Given the description of an element on the screen output the (x, y) to click on. 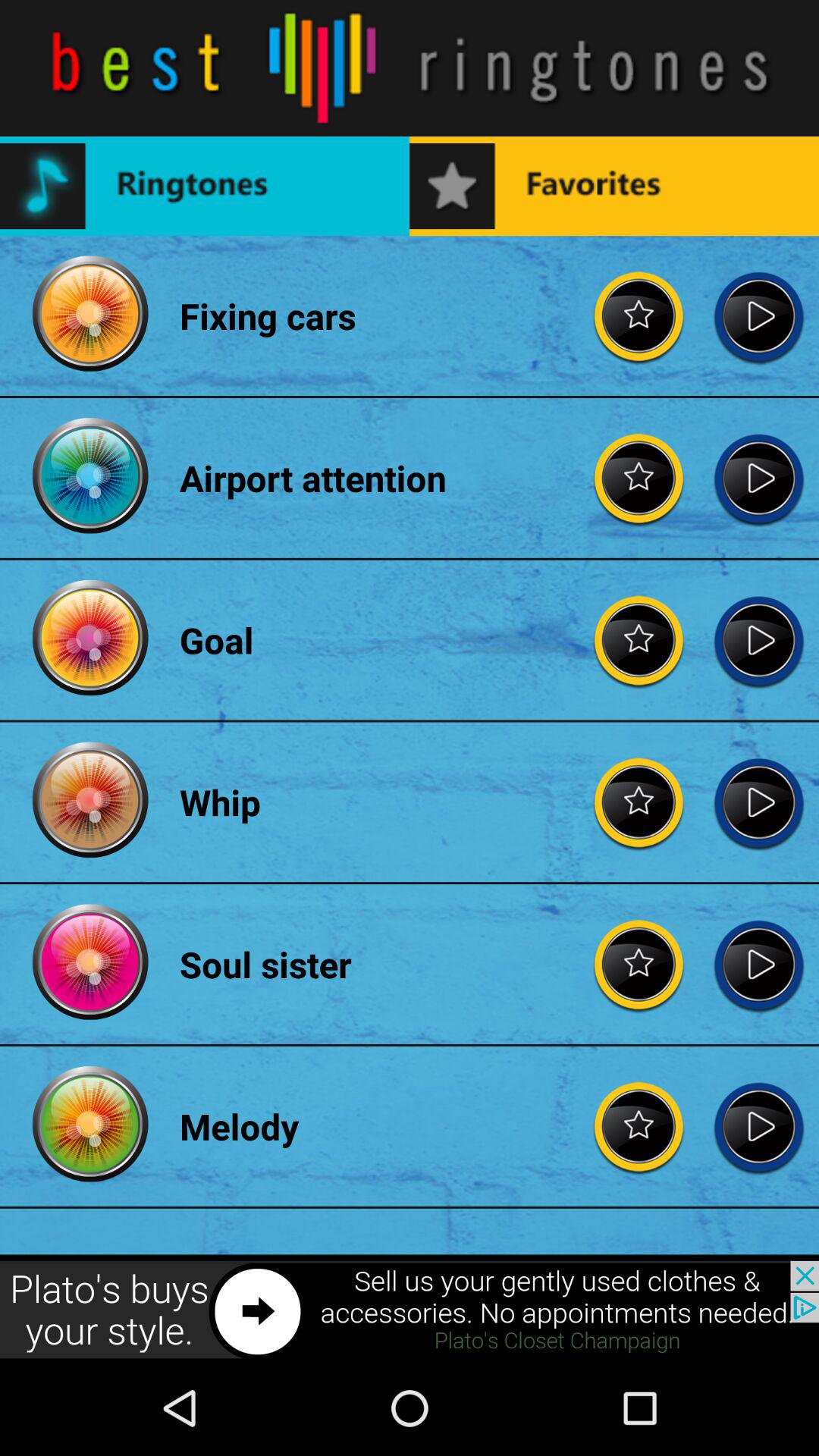
go forward (758, 964)
